Given the description of an element on the screen output the (x, y) to click on. 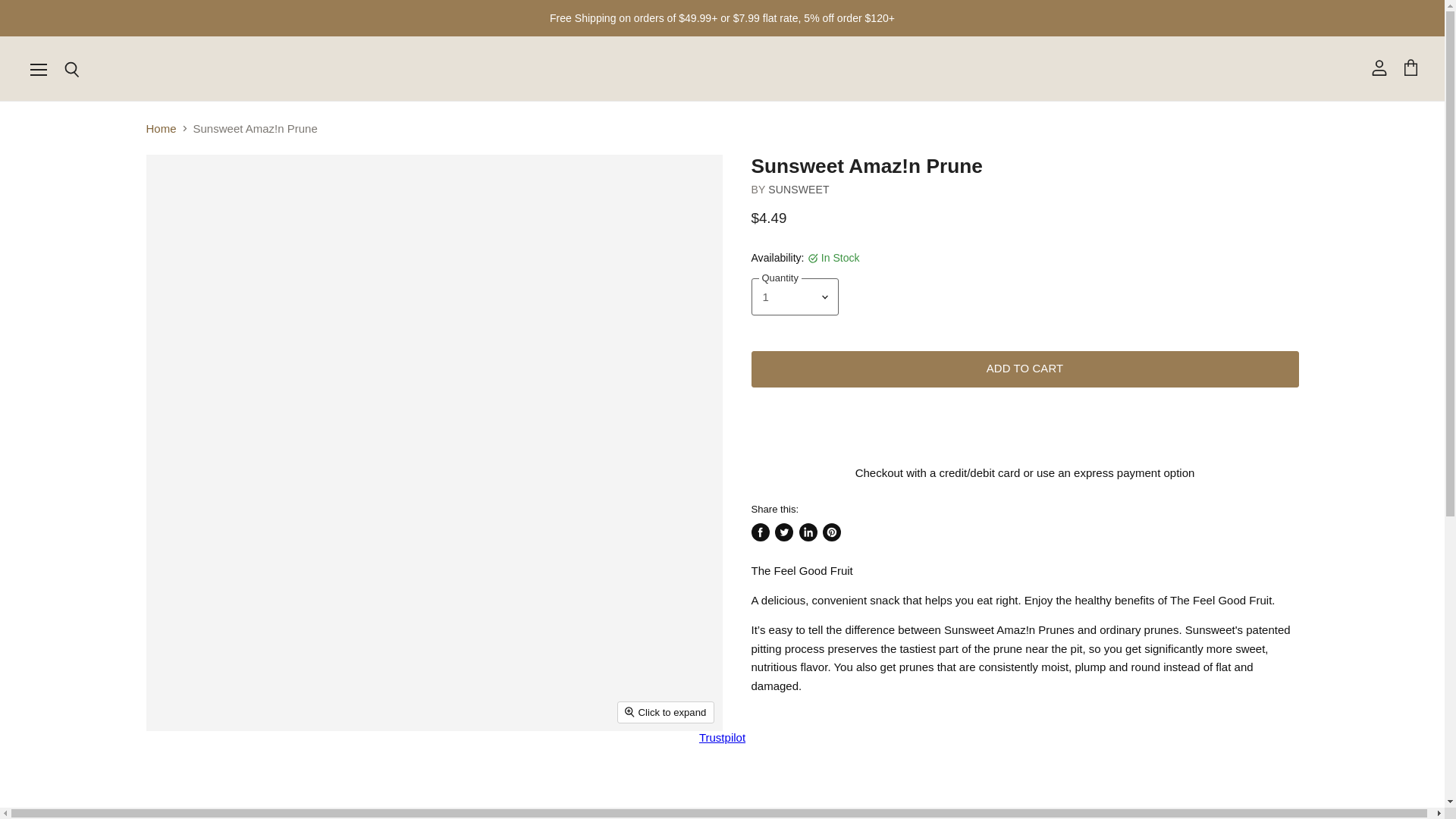
Menu (39, 68)
Search (71, 70)
Sunsweet (798, 189)
